Given the description of an element on the screen output the (x, y) to click on. 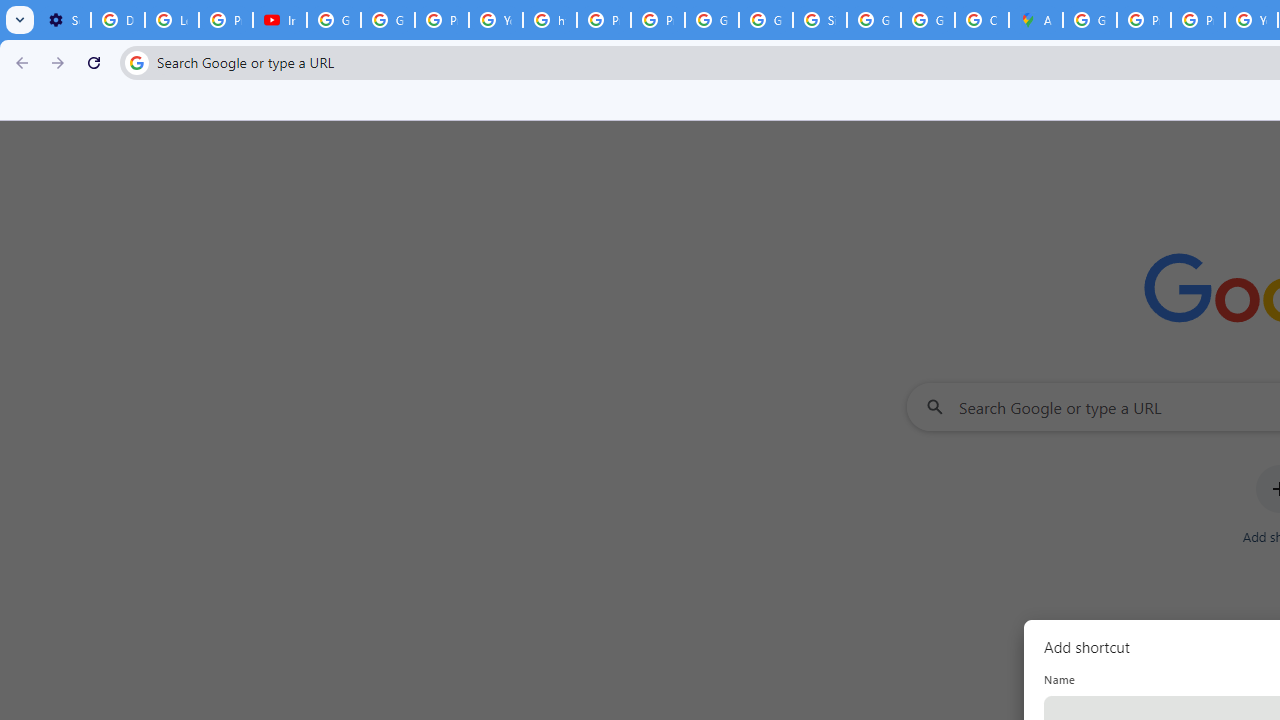
Search icon (136, 62)
Google Account Help (333, 20)
YouTube (495, 20)
Create your Google Account (981, 20)
Google Account Help (387, 20)
Privacy Help Center - Policies Help (1144, 20)
